Given the description of an element on the screen output the (x, y) to click on. 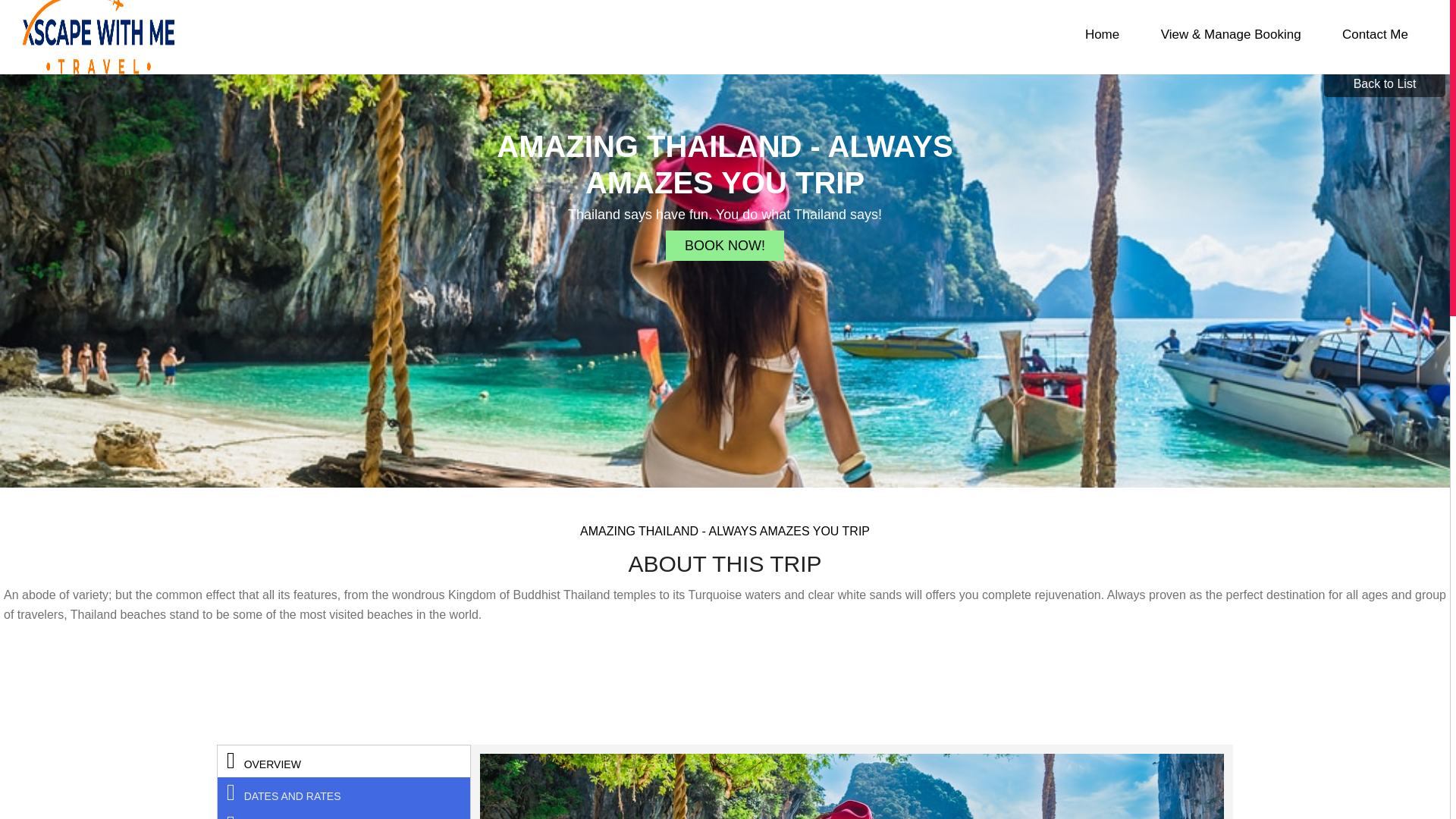
BOOK NOW! (724, 245)
Back to List (1384, 84)
Contact Me (1374, 33)
Home (1101, 33)
